Given the description of an element on the screen output the (x, y) to click on. 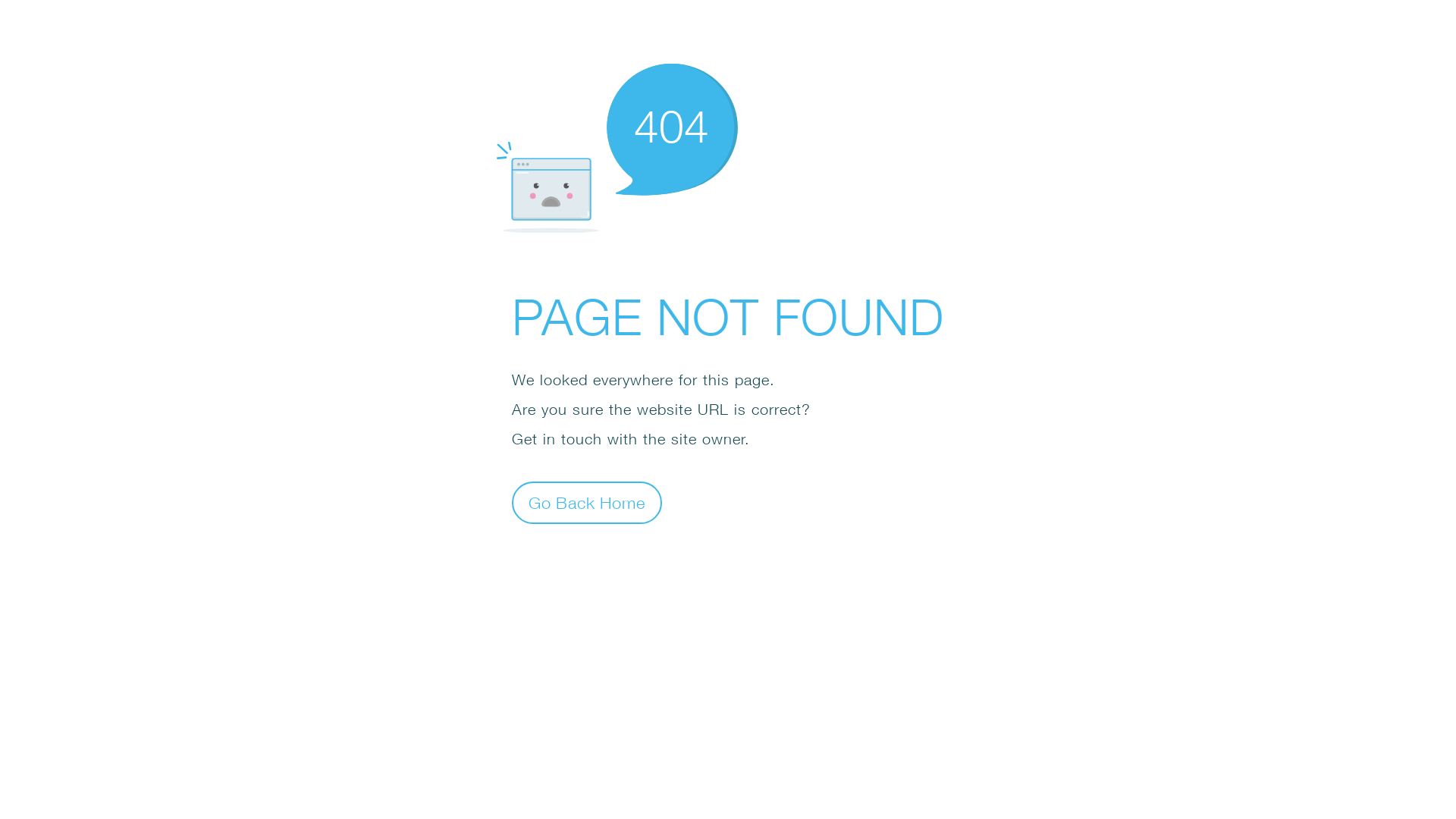
Go Back Home Element type: text (586, 502)
